Given the description of an element on the screen output the (x, y) to click on. 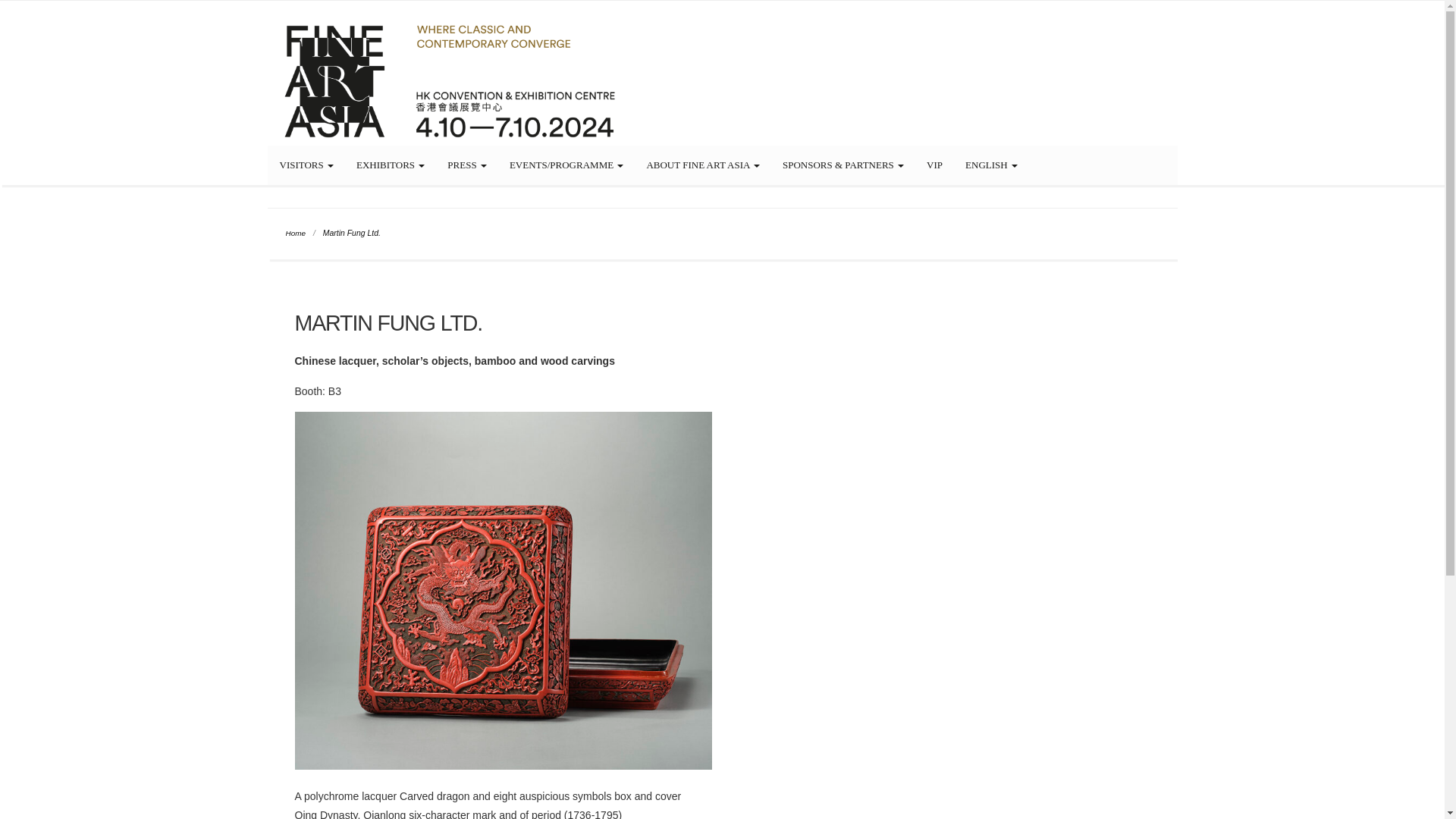
ENGLISH (991, 165)
PRESS (466, 165)
VISITORS (306, 165)
ABOUT FINE ART ASIA (702, 165)
VIP (934, 165)
EXHIBITORS (390, 165)
Home (294, 233)
